Given the description of an element on the screen output the (x, y) to click on. 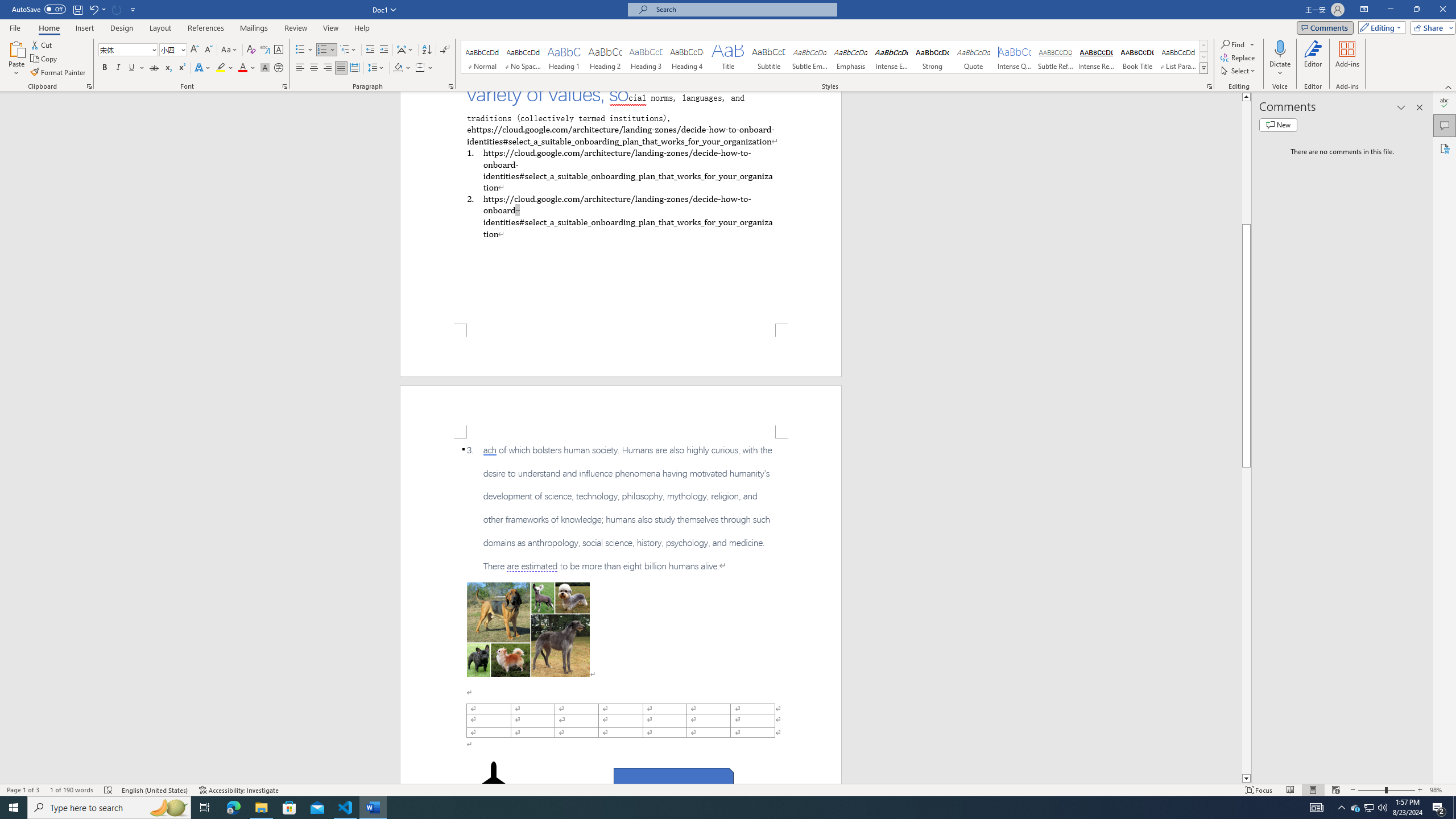
Page down (1245, 620)
Office Clipboard... (88, 85)
Microsoft search (742, 9)
Text Highlight Color Yellow (220, 67)
Character Border (278, 49)
Heading 3 (646, 56)
Morphological variation in six dogs (528, 629)
